Given the description of an element on the screen output the (x, y) to click on. 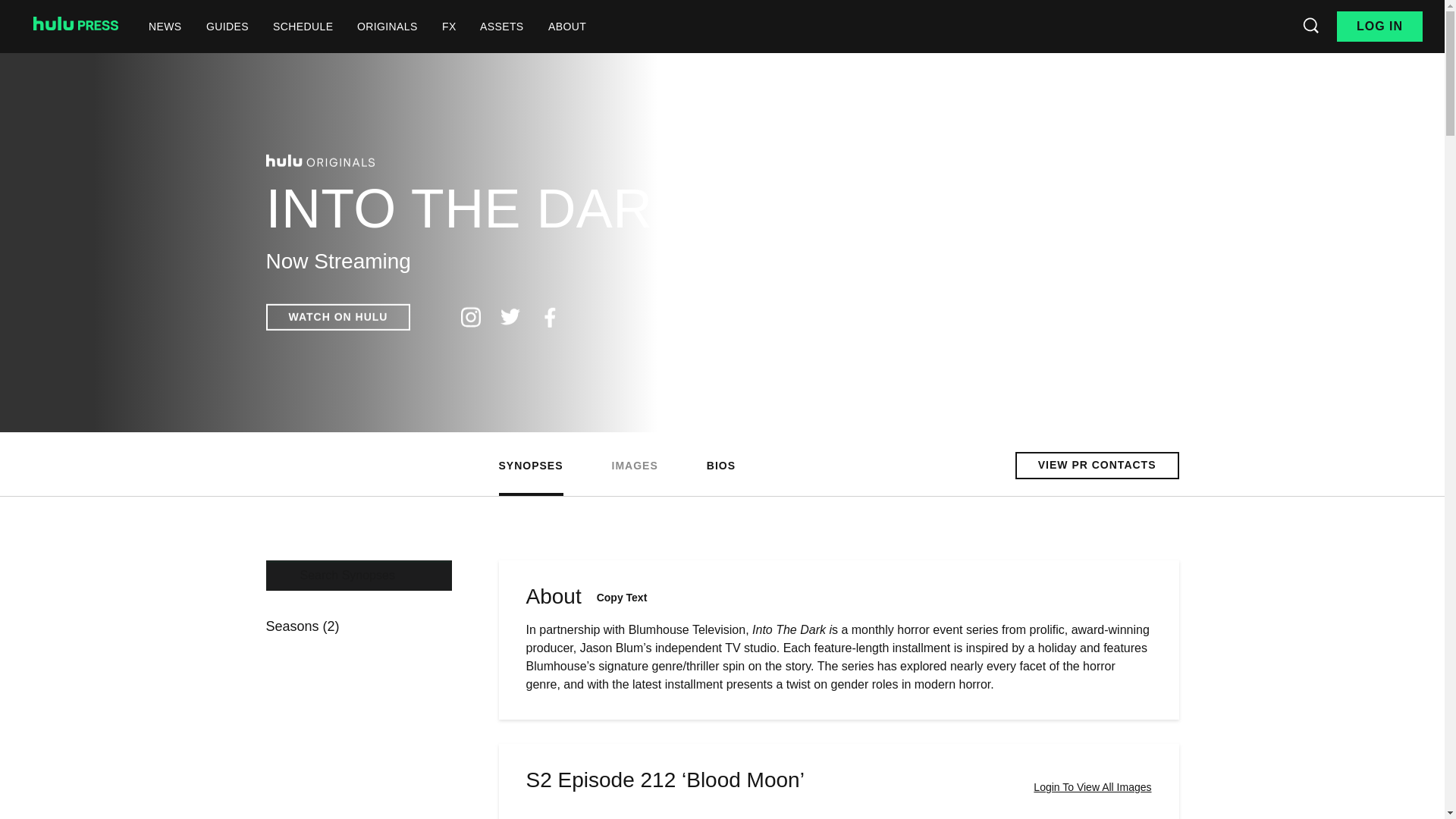
SYNOPSES (531, 465)
SCHEDULE (302, 26)
IMAGES (634, 465)
NEWS (164, 26)
Copy Text (622, 597)
GUIDES (226, 26)
ORIGINALS (387, 26)
ASSETS (501, 26)
VIEW PR CONTACTS (1096, 465)
FX (448, 26)
